Given the description of an element on the screen output the (x, y) to click on. 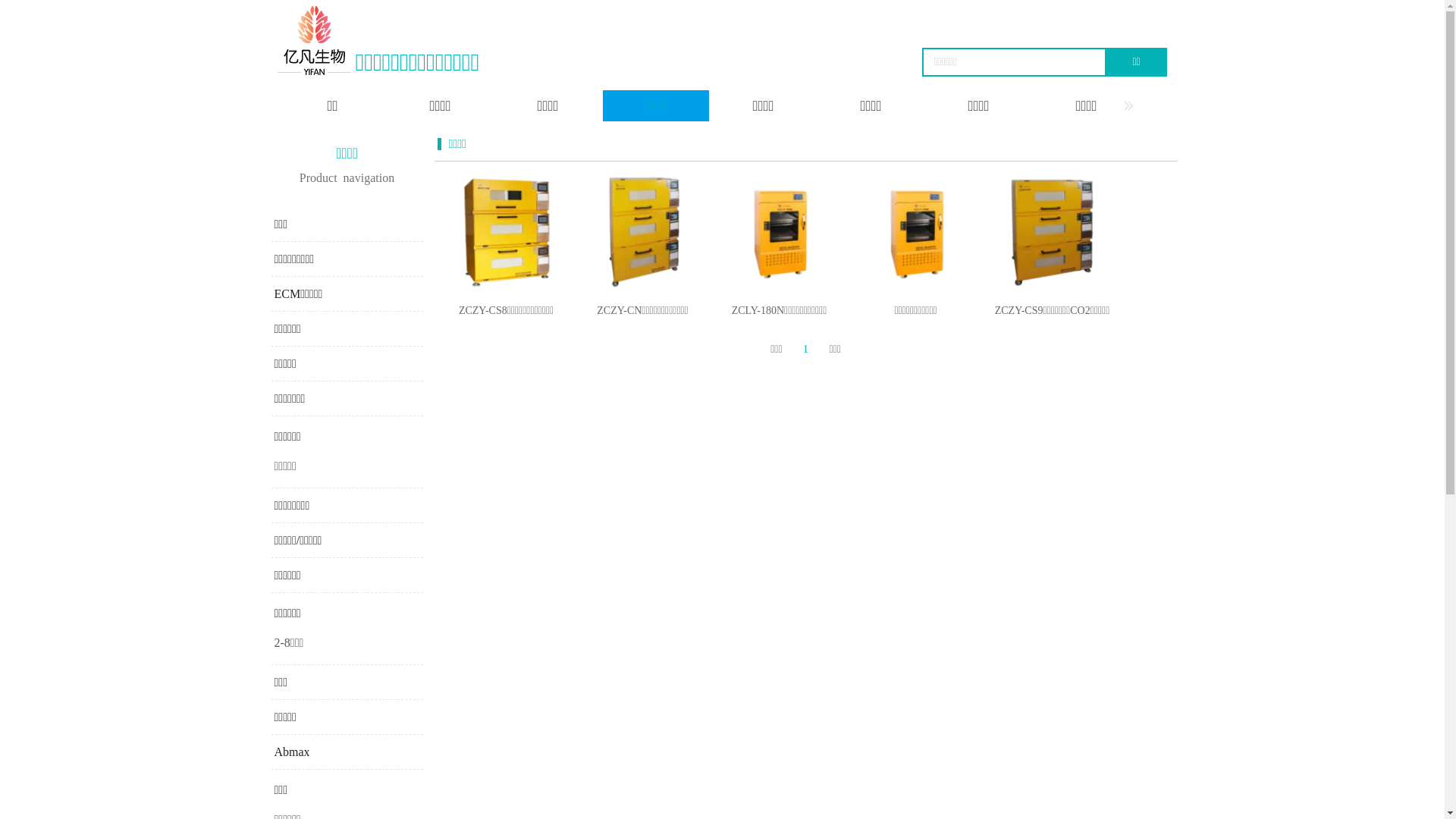
Abmax Element type: text (292, 751)
